Given the description of an element on the screen output the (x, y) to click on. 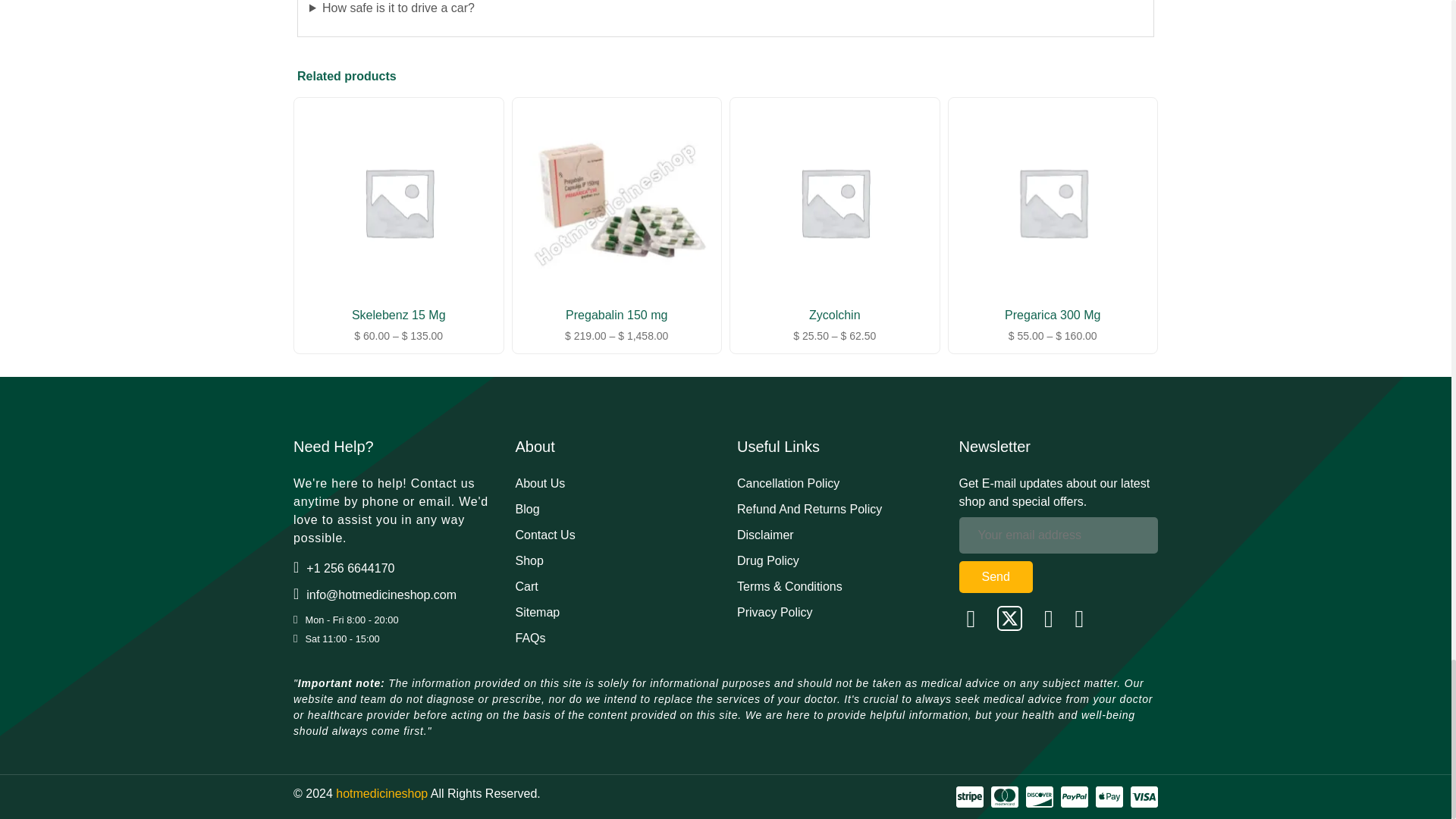
Send (995, 576)
